Given the description of an element on the screen output the (x, y) to click on. 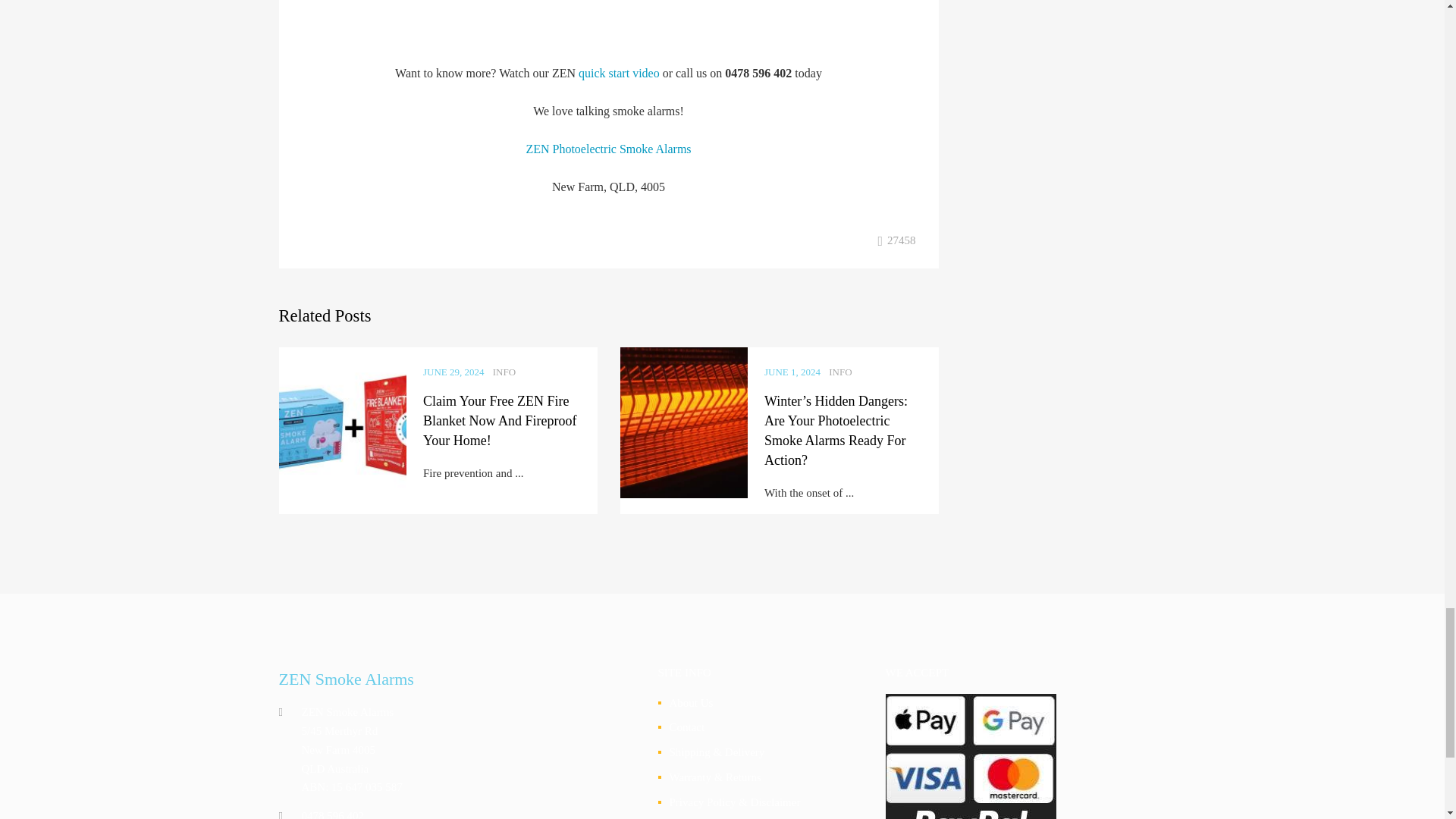
quick start video (618, 72)
ZEN Photoelectric Smoke Alarms (607, 148)
INFO (839, 371)
INFO (504, 371)
